Given the description of an element on the screen output the (x, y) to click on. 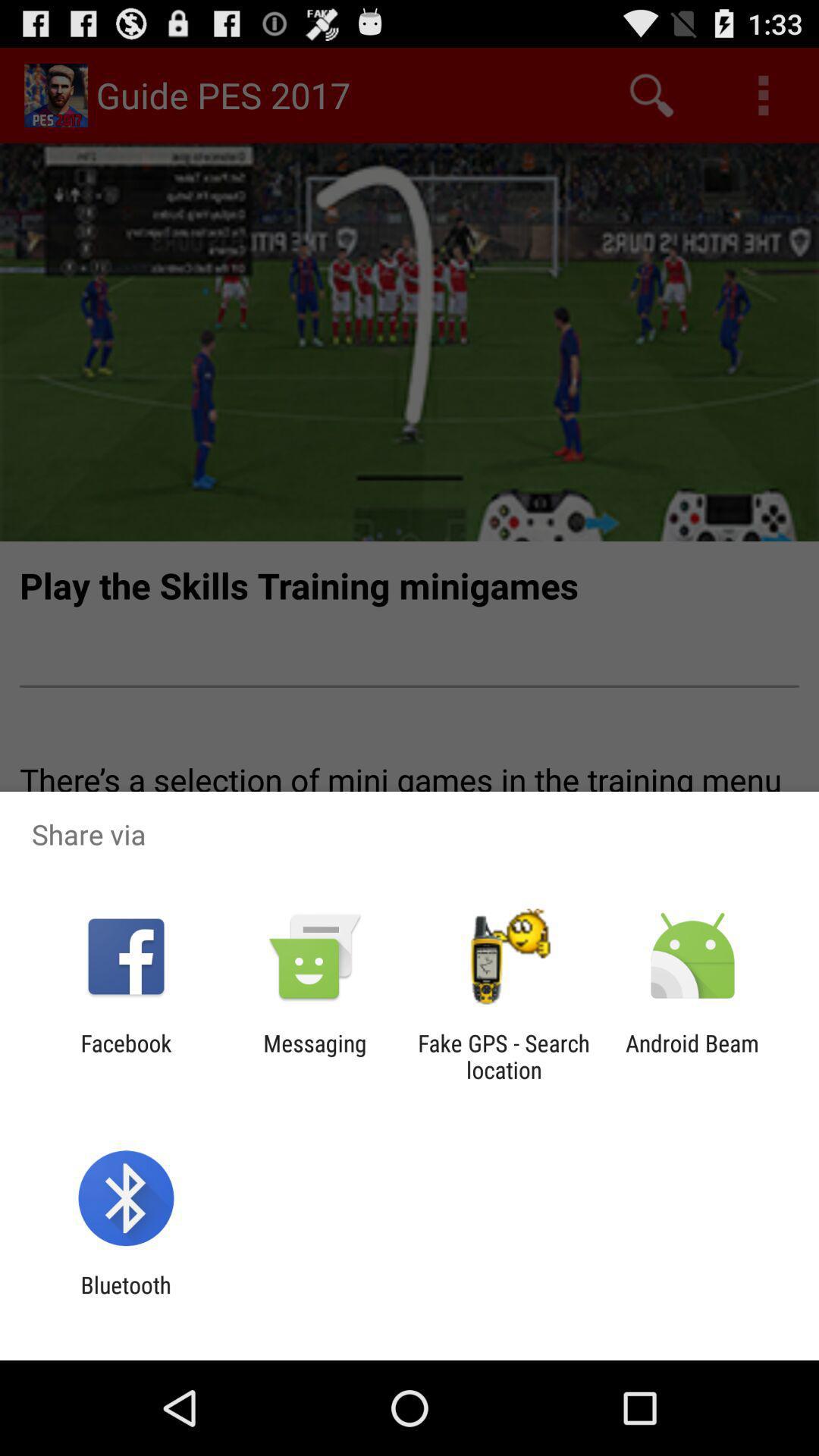
flip until android beam item (692, 1056)
